Given the description of an element on the screen output the (x, y) to click on. 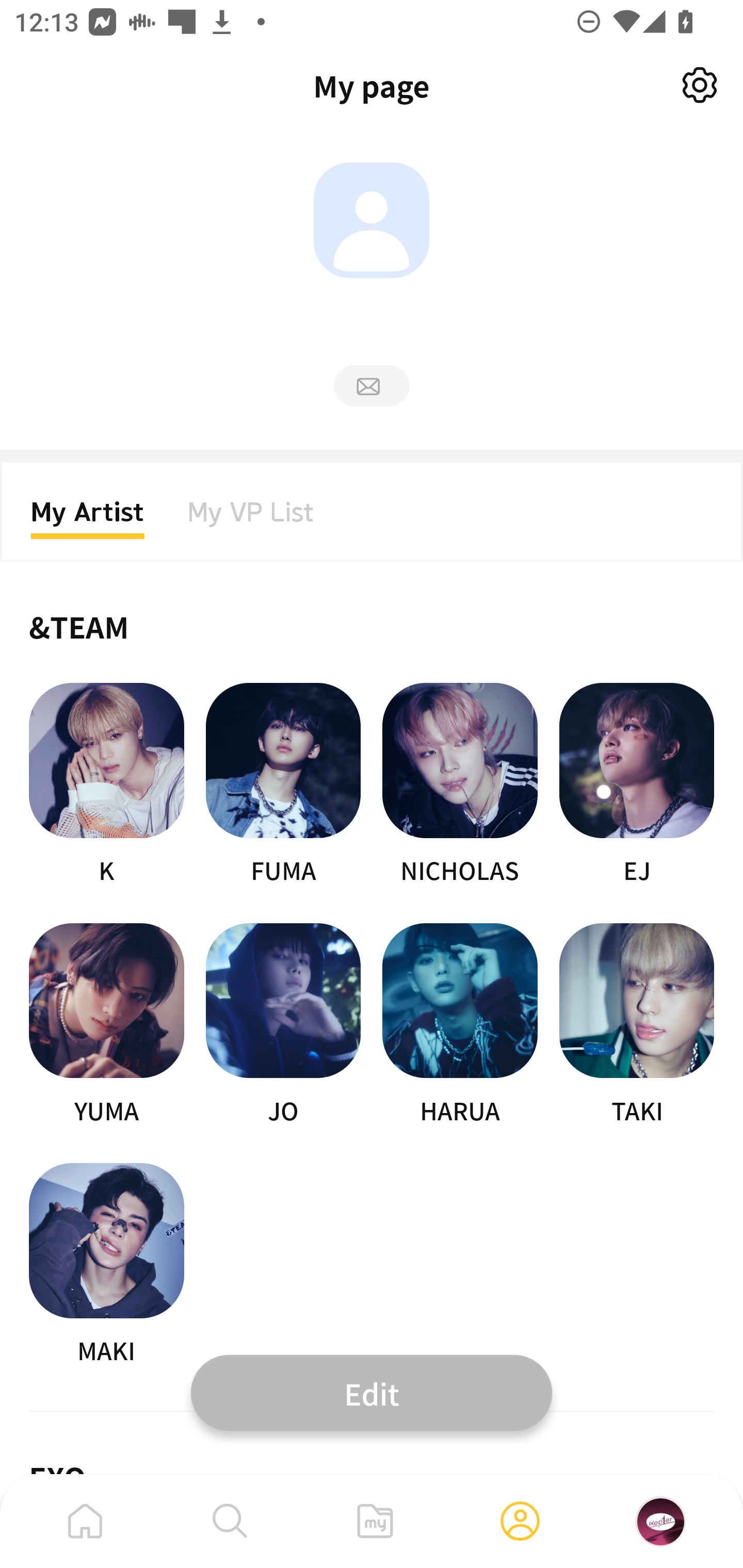
My Artist (87, 517)
My VP List (250, 517)
K (106, 785)
FUMA (282, 785)
NICHOLAS (459, 785)
EJ (636, 785)
YUMA (106, 1025)
JO (282, 1025)
HARUA (459, 1025)
TAKI (636, 1025)
MAKI (106, 1265)
Edit (371, 1392)
